Given the description of an element on the screen output the (x, y) to click on. 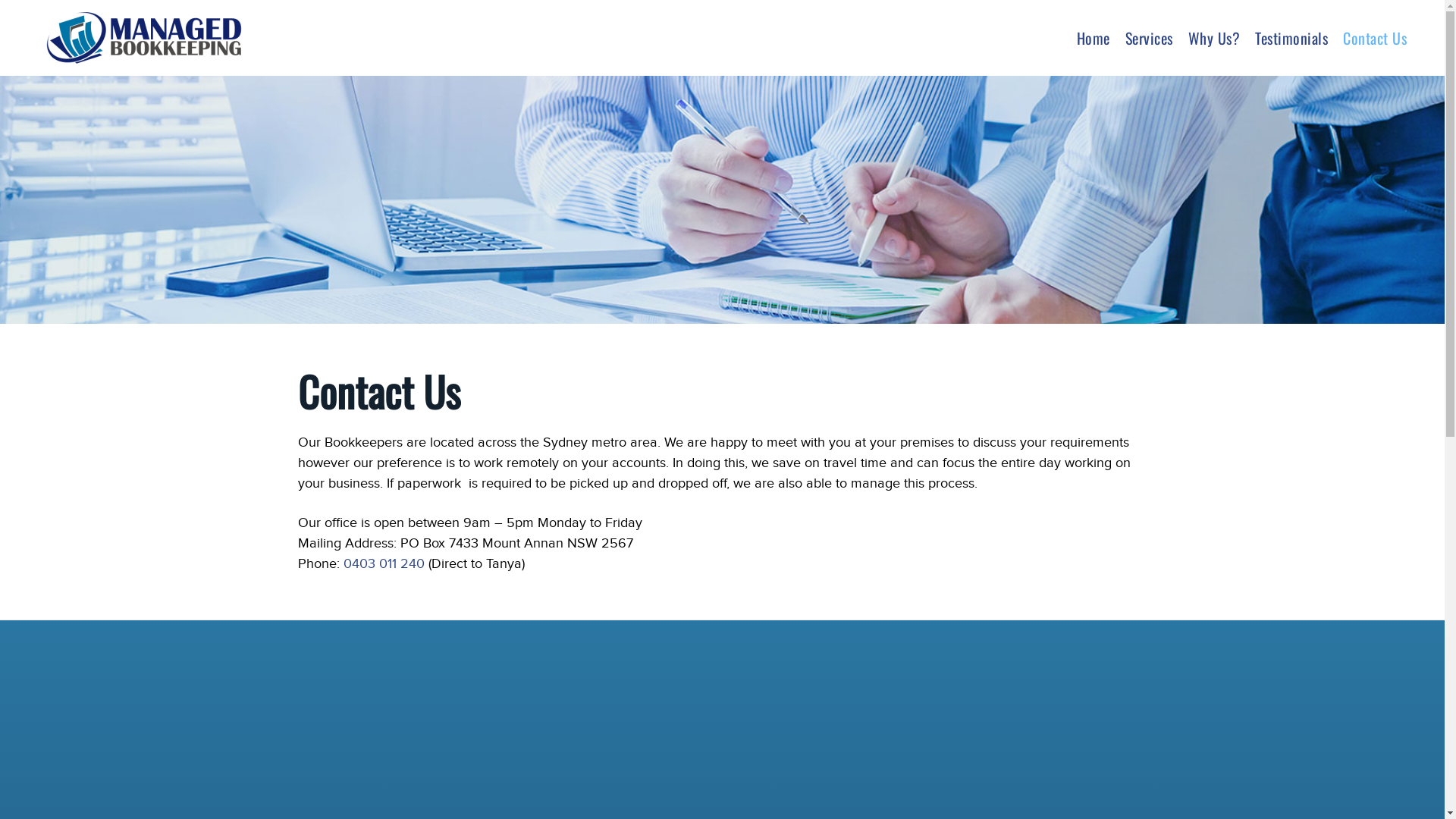
Testimonials Element type: text (1291, 37)
Services Element type: text (1148, 37)
Home Element type: text (1093, 37)
Contact Us Element type: text (1374, 37)
0403 011 240 Element type: text (382, 563)
Why Us? Element type: text (1213, 37)
